Given the description of an element on the screen output the (x, y) to click on. 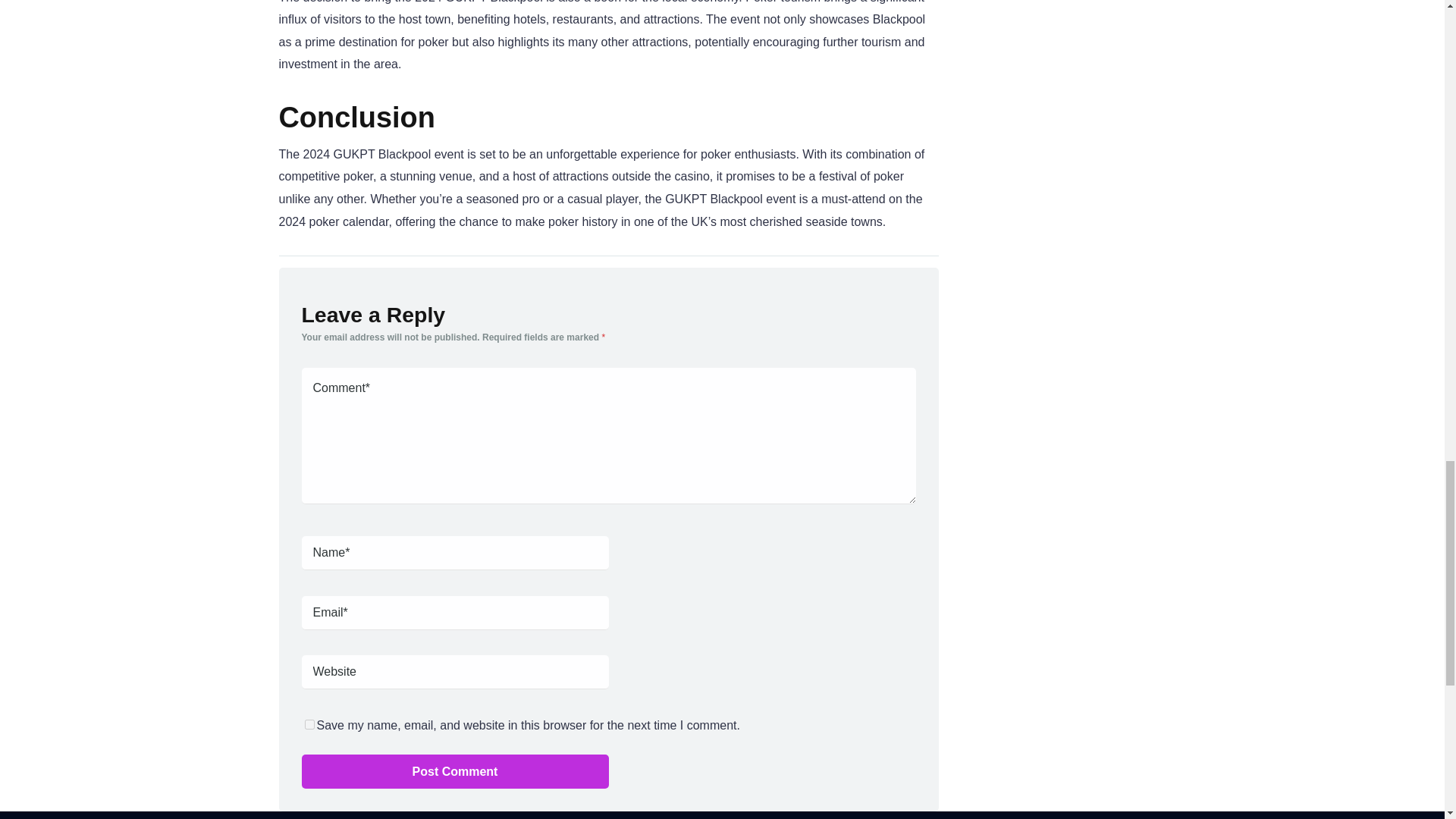
Post Comment (454, 771)
Post Comment (454, 771)
yes (309, 724)
